Given the description of an element on the screen output the (x, y) to click on. 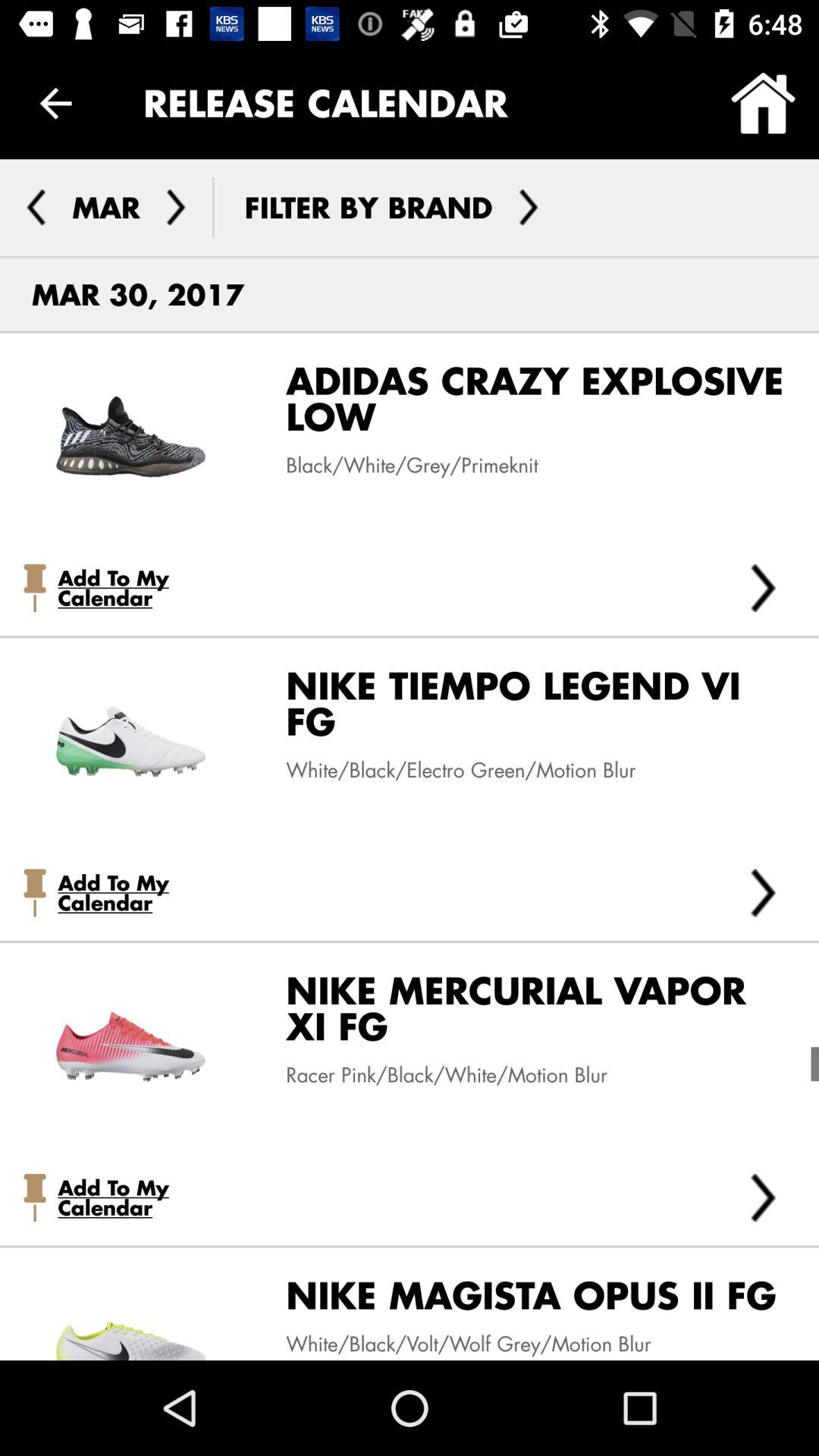
change month to april (175, 207)
